Given the description of an element on the screen output the (x, y) to click on. 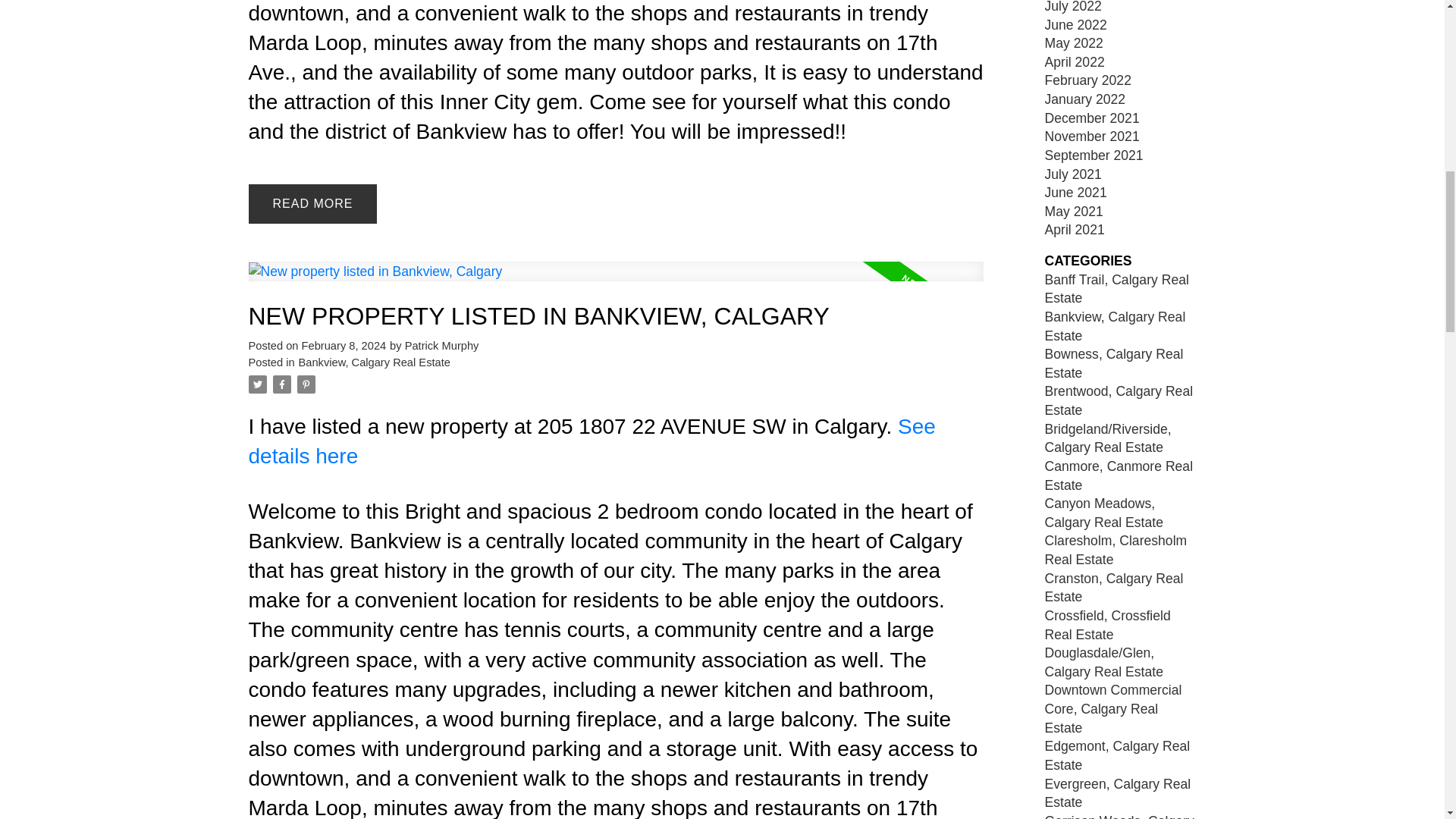
Read full post (616, 280)
